Given the description of an element on the screen output the (x, y) to click on. 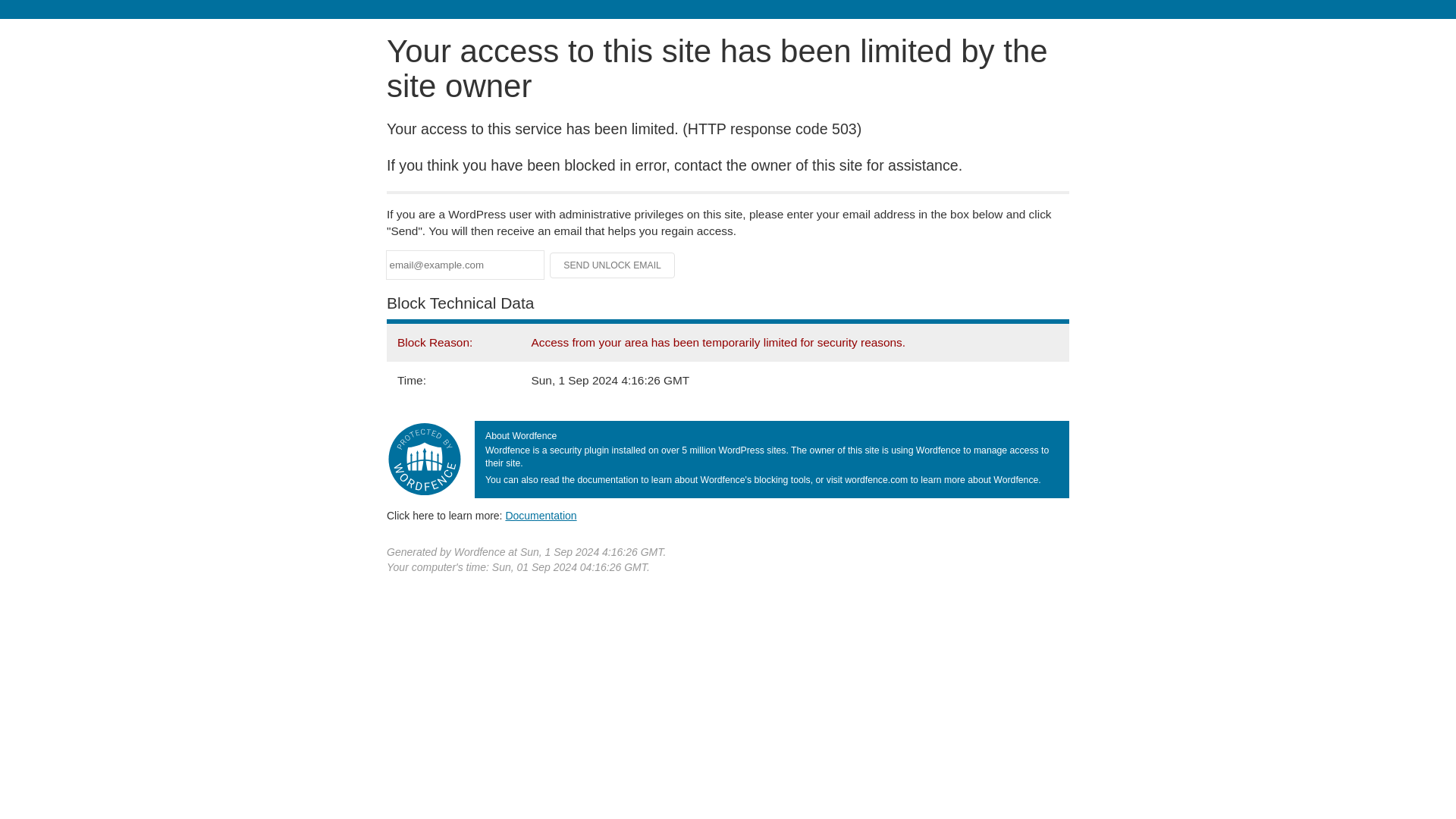
Documentation (540, 515)
Send Unlock Email (612, 265)
Send Unlock Email (612, 265)
